Given the description of an element on the screen output the (x, y) to click on. 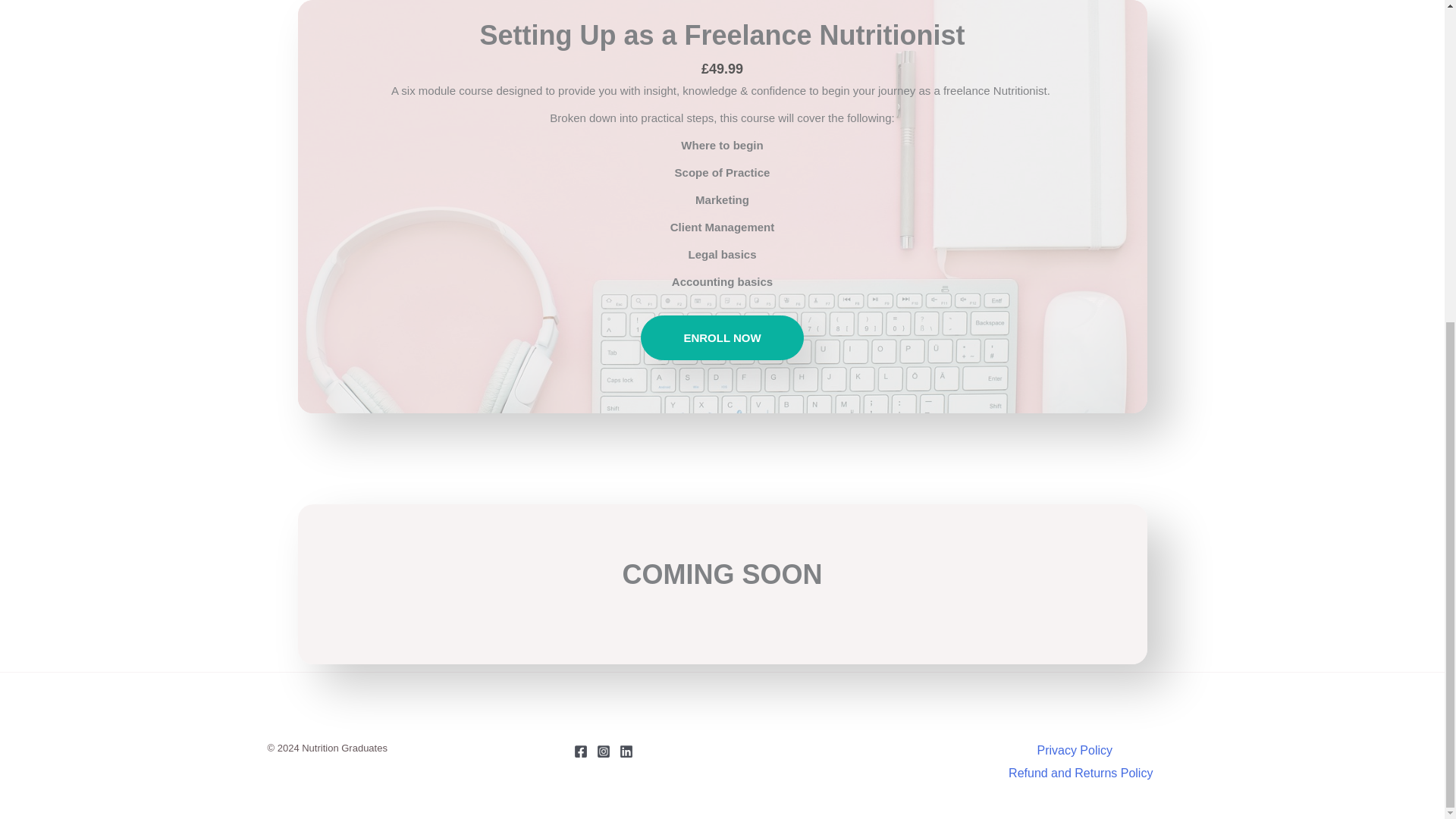
ENROLL NOW (721, 337)
Privacy Policy (1077, 750)
Refund and Returns Policy (1078, 773)
